Given the description of an element on the screen output the (x, y) to click on. 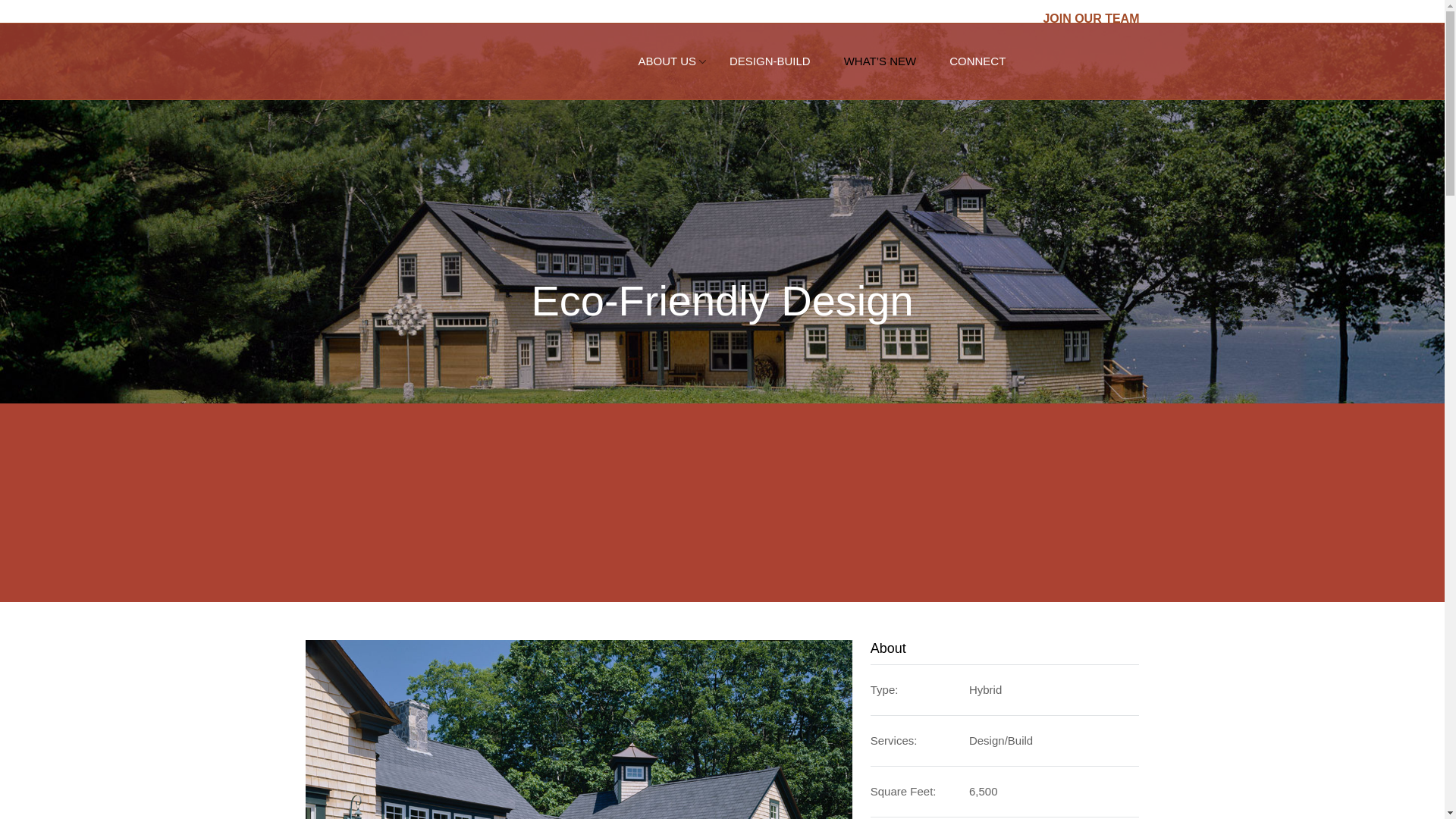
DESIGN-BUILD (770, 61)
JOIN OUR TEAM (1090, 18)
CONNECT (977, 61)
A select gallery of some of our work (770, 61)
Please get in touch (977, 61)
ABOUT US (667, 61)
